Given the description of an element on the screen output the (x, y) to click on. 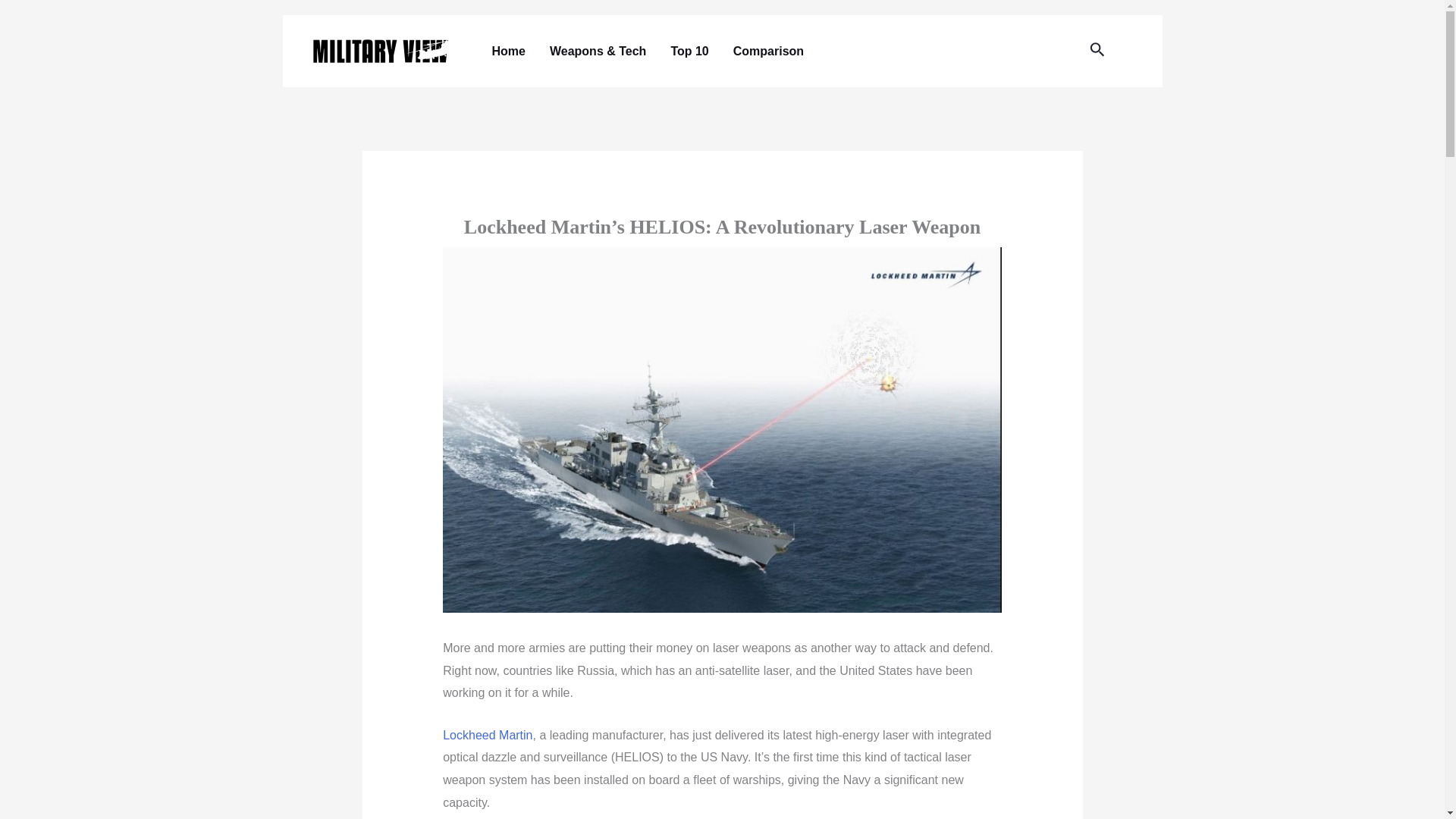
Comparison (767, 51)
Top 10 (689, 51)
Home (508, 51)
Lockheed Martin (487, 735)
